Given the description of an element on the screen output the (x, y) to click on. 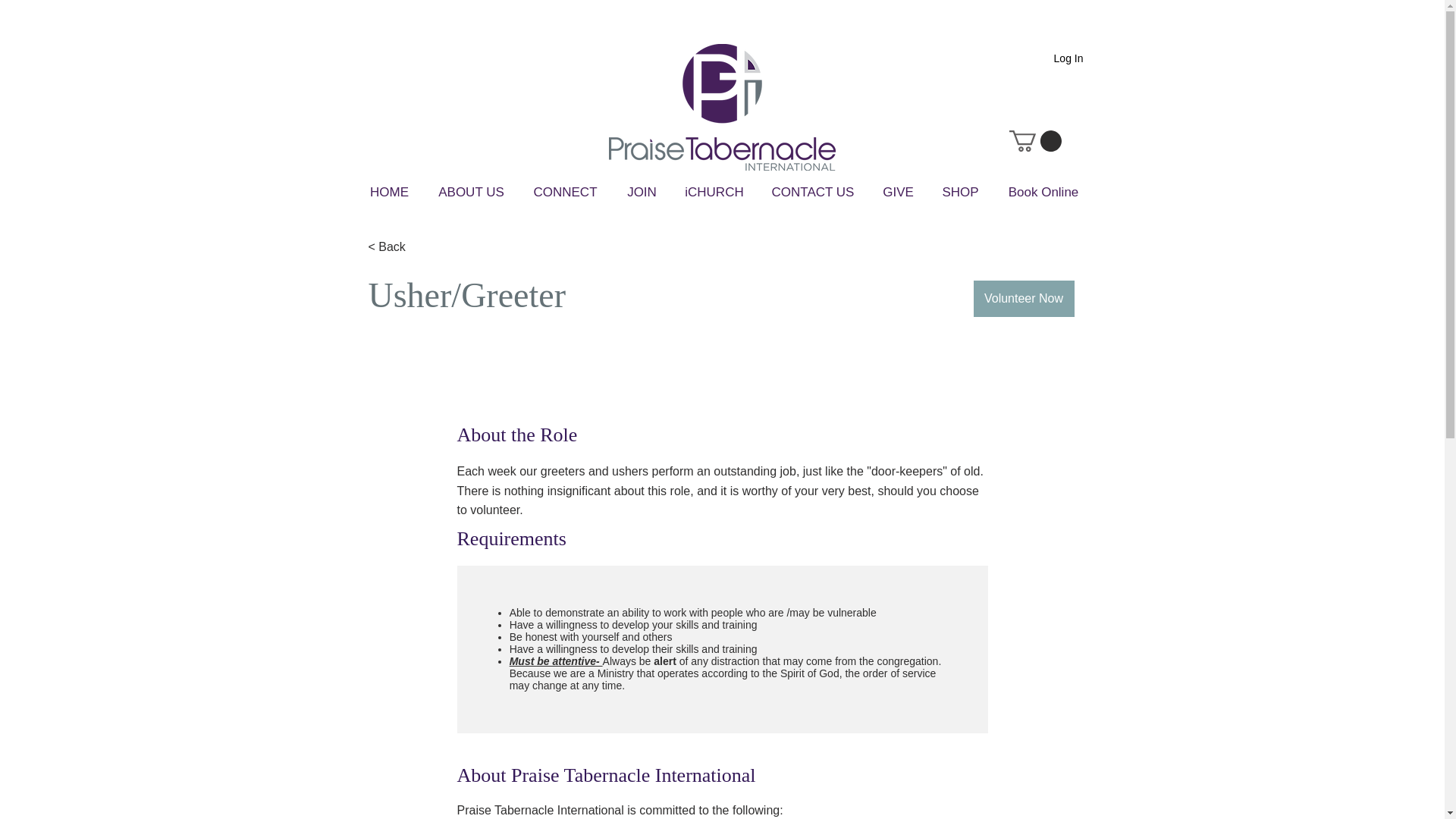
GIVE (898, 192)
ABOUT US (471, 192)
iCHURCH (714, 192)
CONNECT (565, 192)
JOIN (641, 192)
Volunteer Now (1024, 298)
HOME (390, 192)
Book Online (1043, 192)
Log In (1068, 58)
SHOP (960, 192)
CONTACT US (812, 192)
